Given the description of an element on the screen output the (x, y) to click on. 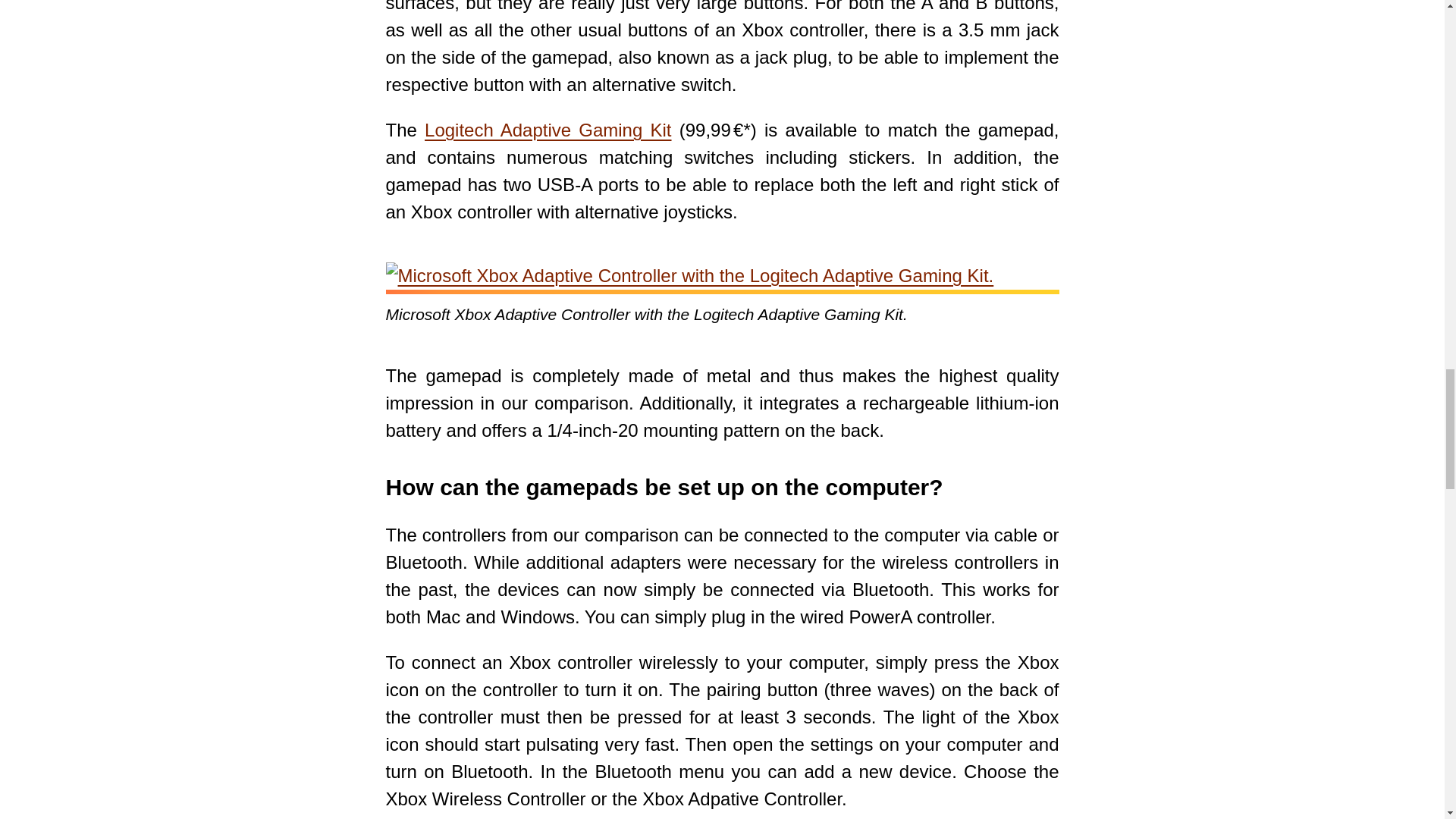
Logitech Adaptive Gaming Kit (548, 129)
How can the gamepads be set up on the computer? (663, 487)
